Given the description of an element on the screen output the (x, y) to click on. 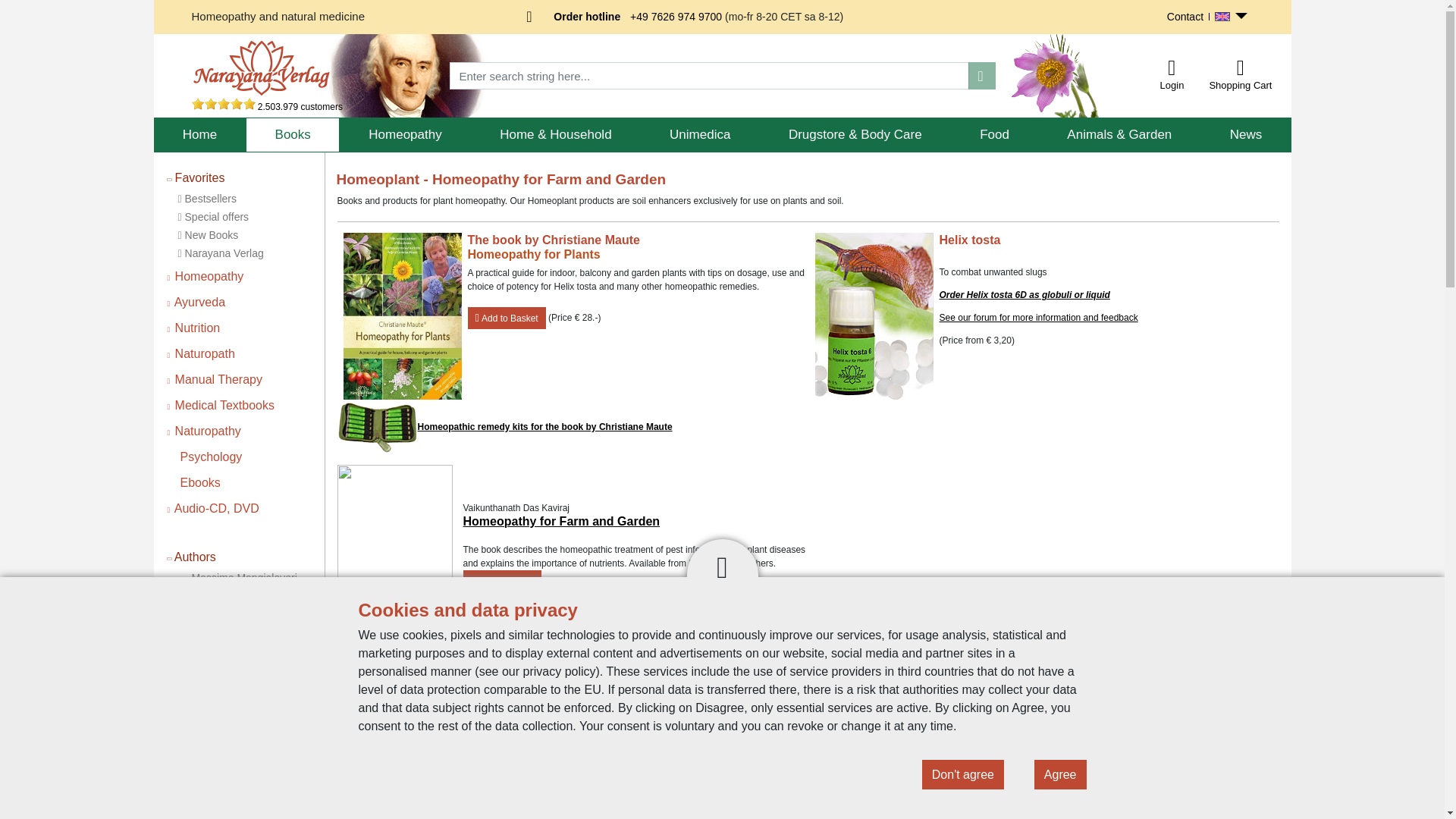
Contact (1184, 17)
Books (292, 134)
Rajan Sankaran (228, 595)
Home (199, 134)
2.503.979 customers (266, 106)
Massimo Mangialavori (243, 577)
Shopping Cart (1240, 67)
Rosina Sonnenschmidt (244, 632)
Jan Scholten (220, 613)
